Given the description of an element on the screen output the (x, y) to click on. 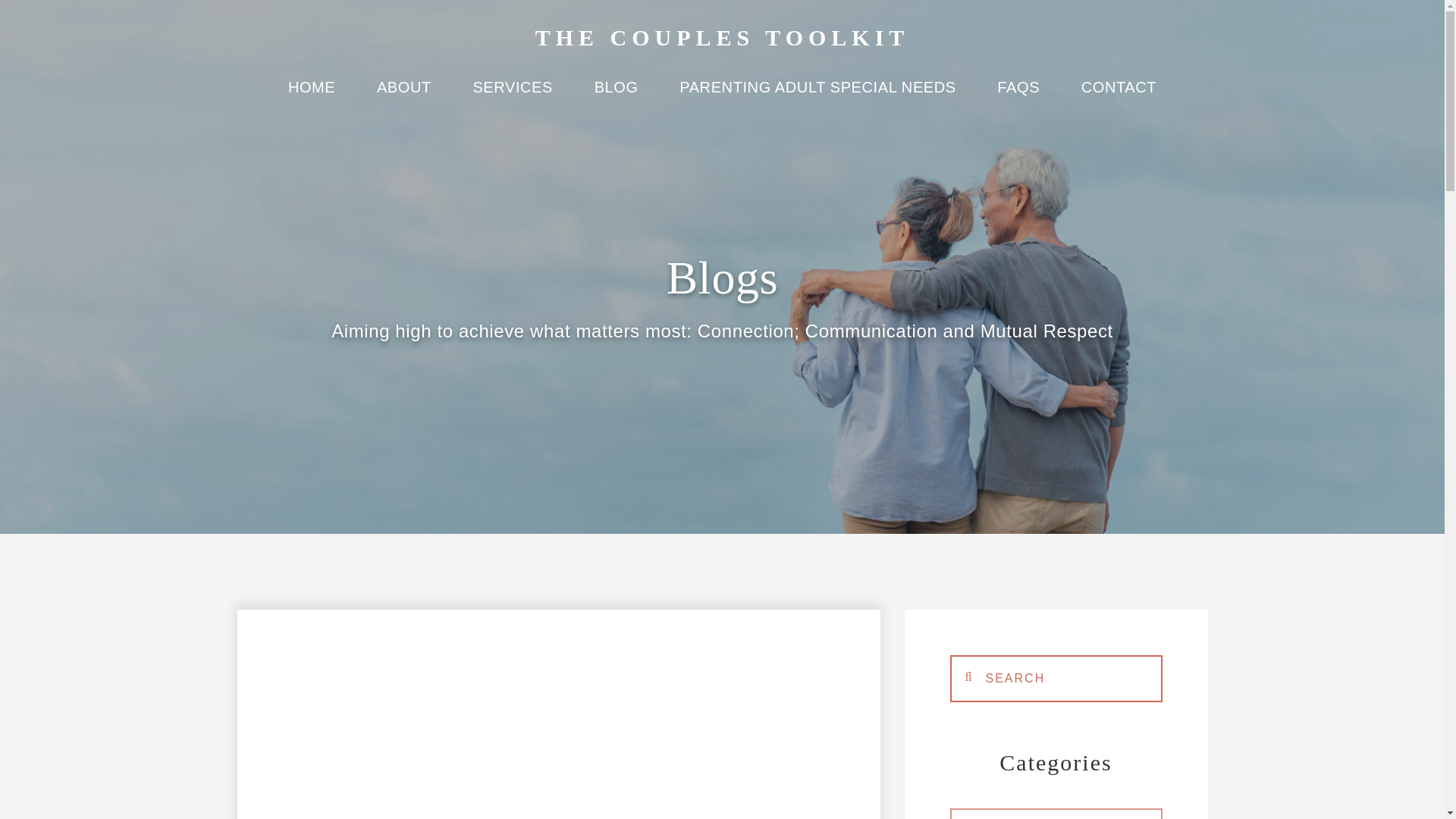
ABOUT (403, 96)
PARENTING ADULT SPECIAL NEEDS (817, 96)
HOME (311, 96)
BLOG (616, 96)
FAQS (1018, 96)
THE COUPLES TOOLKIT (722, 37)
Go (1055, 677)
SERVICES (512, 96)
CONTACT (1118, 96)
